Given the description of an element on the screen output the (x, y) to click on. 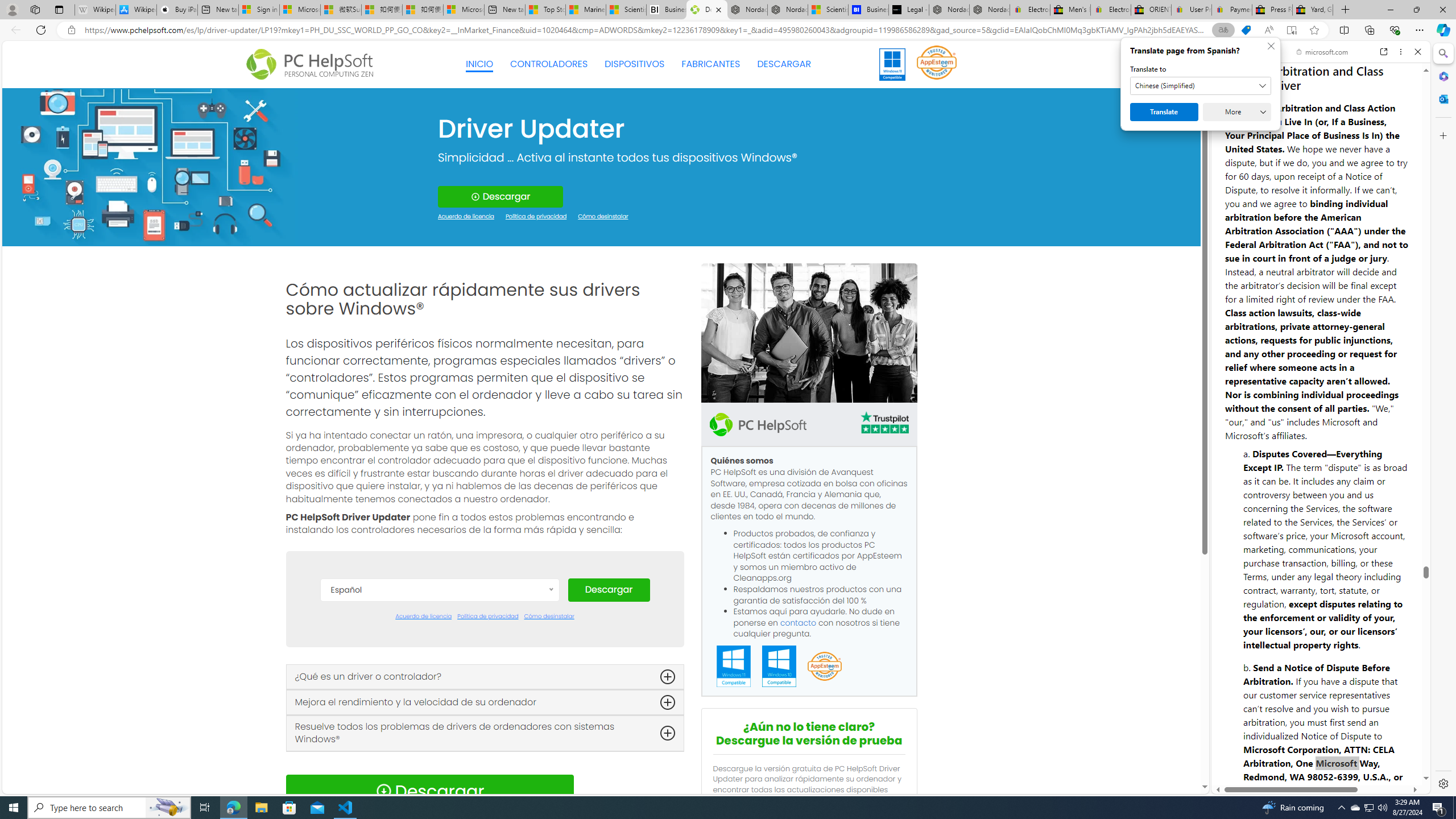
Acuerdo de licencia (423, 615)
DISPOSITIVOS (634, 64)
Descargar (608, 589)
contacto (798, 622)
Download Icon Descargar (429, 790)
Descarga Driver Updater (706, 9)
Open in New Tab (1321, 768)
CONTROLADORES (548, 64)
Press Room - eBay Inc. (1272, 9)
TrustPilot (884, 424)
FABRICANTES (711, 64)
